Given the description of an element on the screen output the (x, y) to click on. 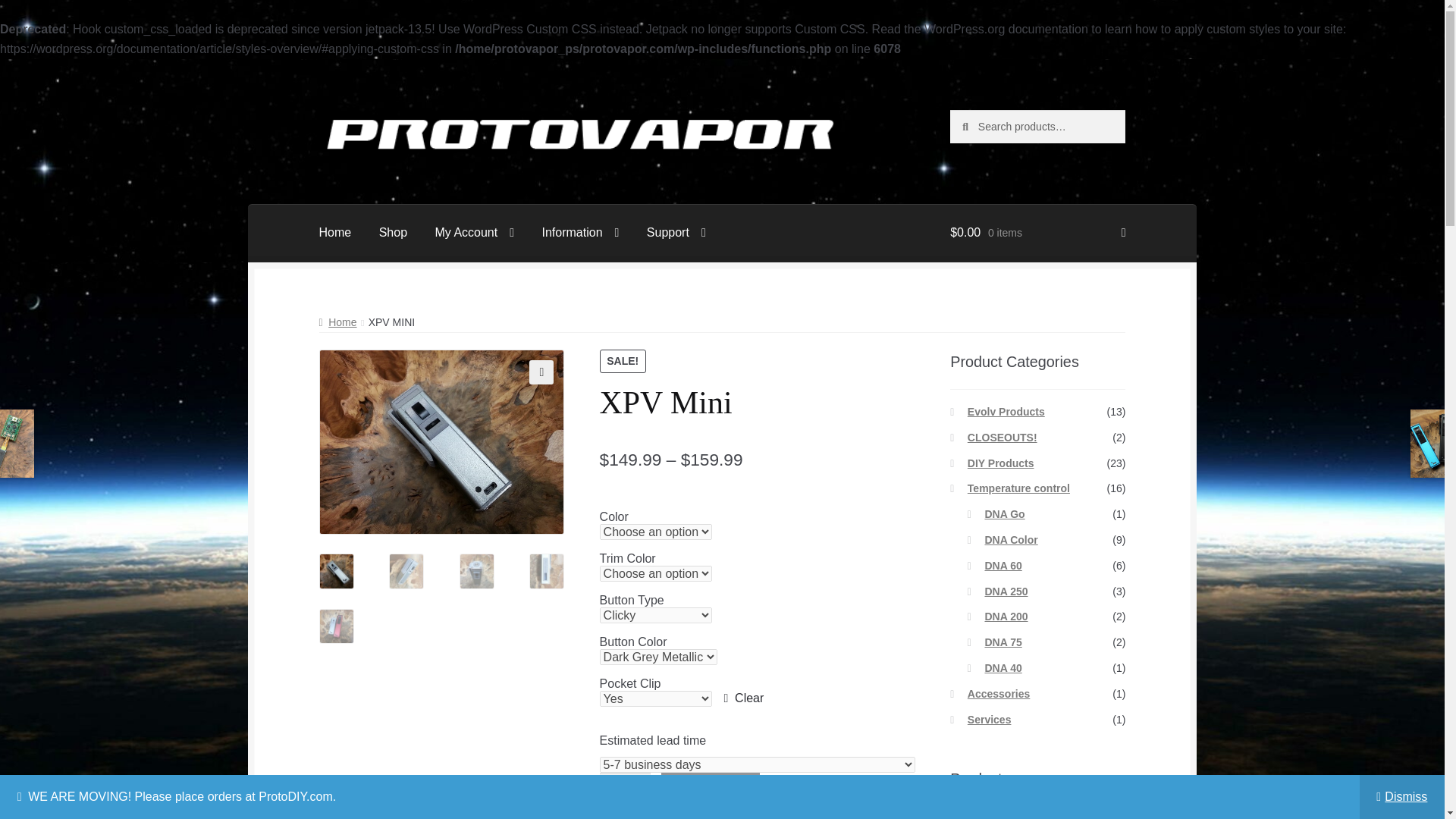
Grey Mini Side (686, 483)
Grey mini (441, 441)
Information (579, 232)
Support (675, 232)
View your shopping cart (1037, 232)
My Account (473, 232)
1 (624, 790)
Home (335, 232)
